Given the description of an element on the screen output the (x, y) to click on. 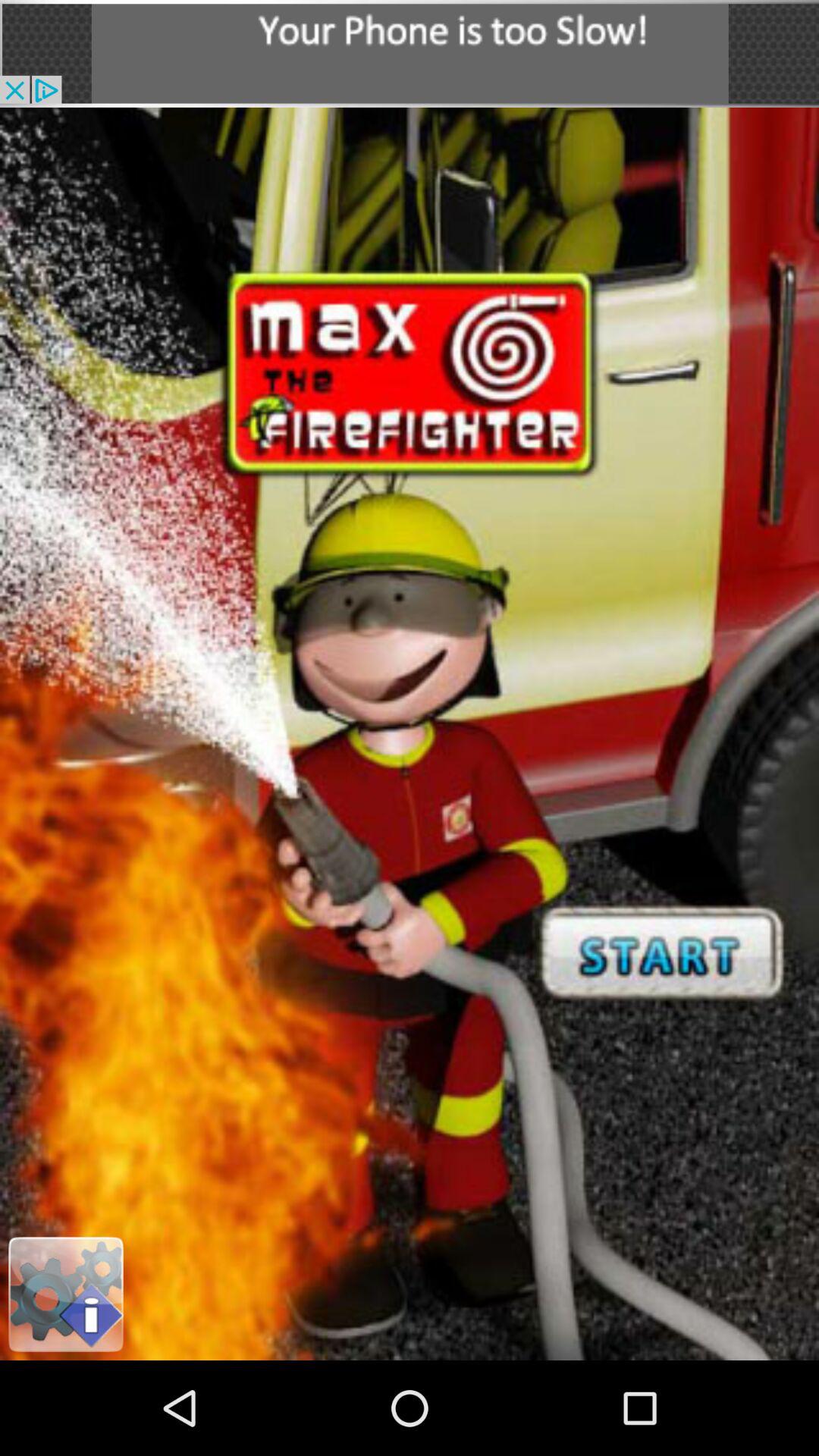
open advertisement (409, 53)
